Given the description of an element on the screen output the (x, y) to click on. 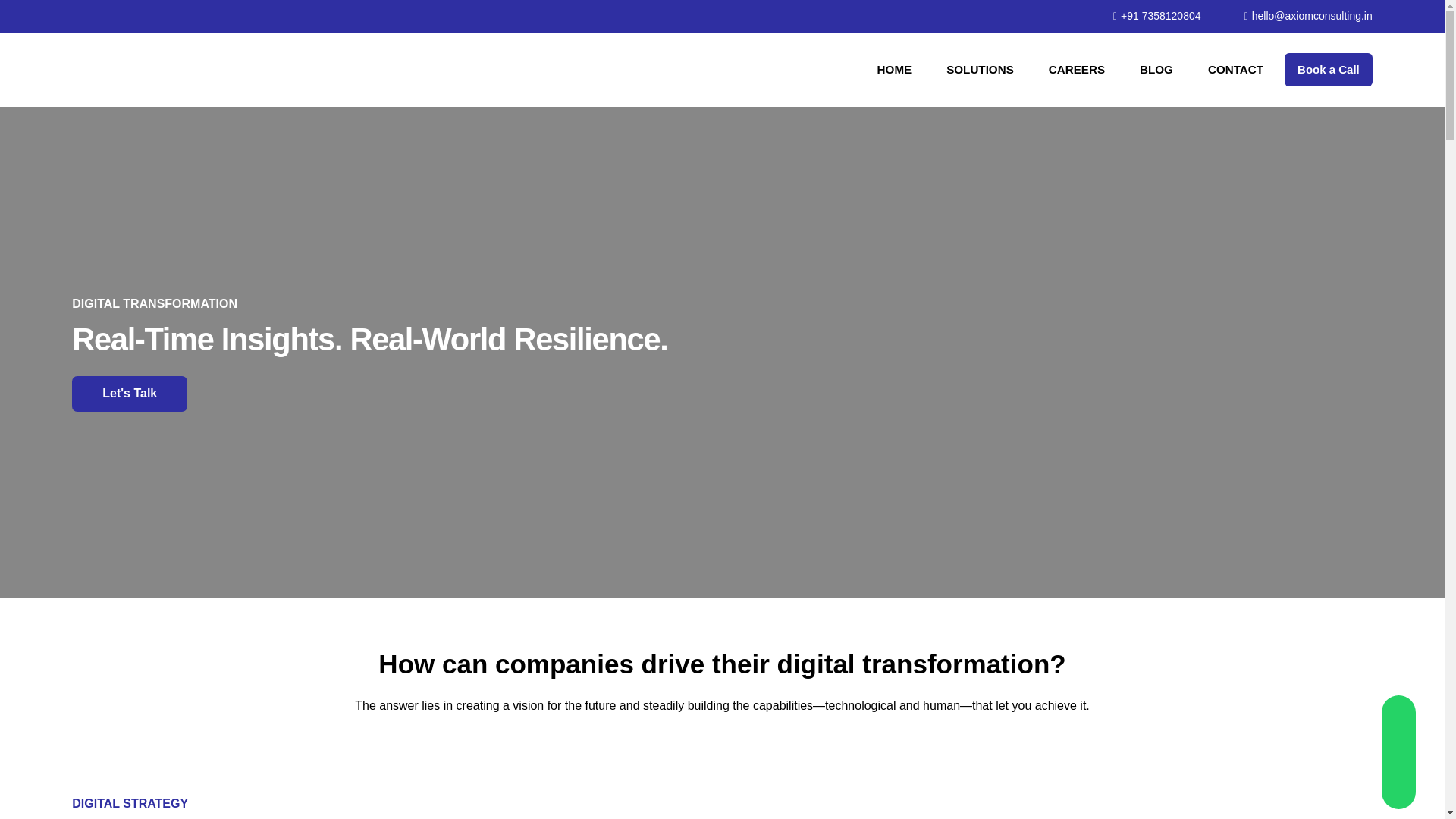
CAREERS (1076, 69)
SOLUTIONS (980, 69)
Book a Call (1328, 69)
HOME (894, 69)
BLOG (1155, 69)
CONTACT (1234, 69)
Let's Talk (129, 393)
